Given the description of an element on the screen output the (x, y) to click on. 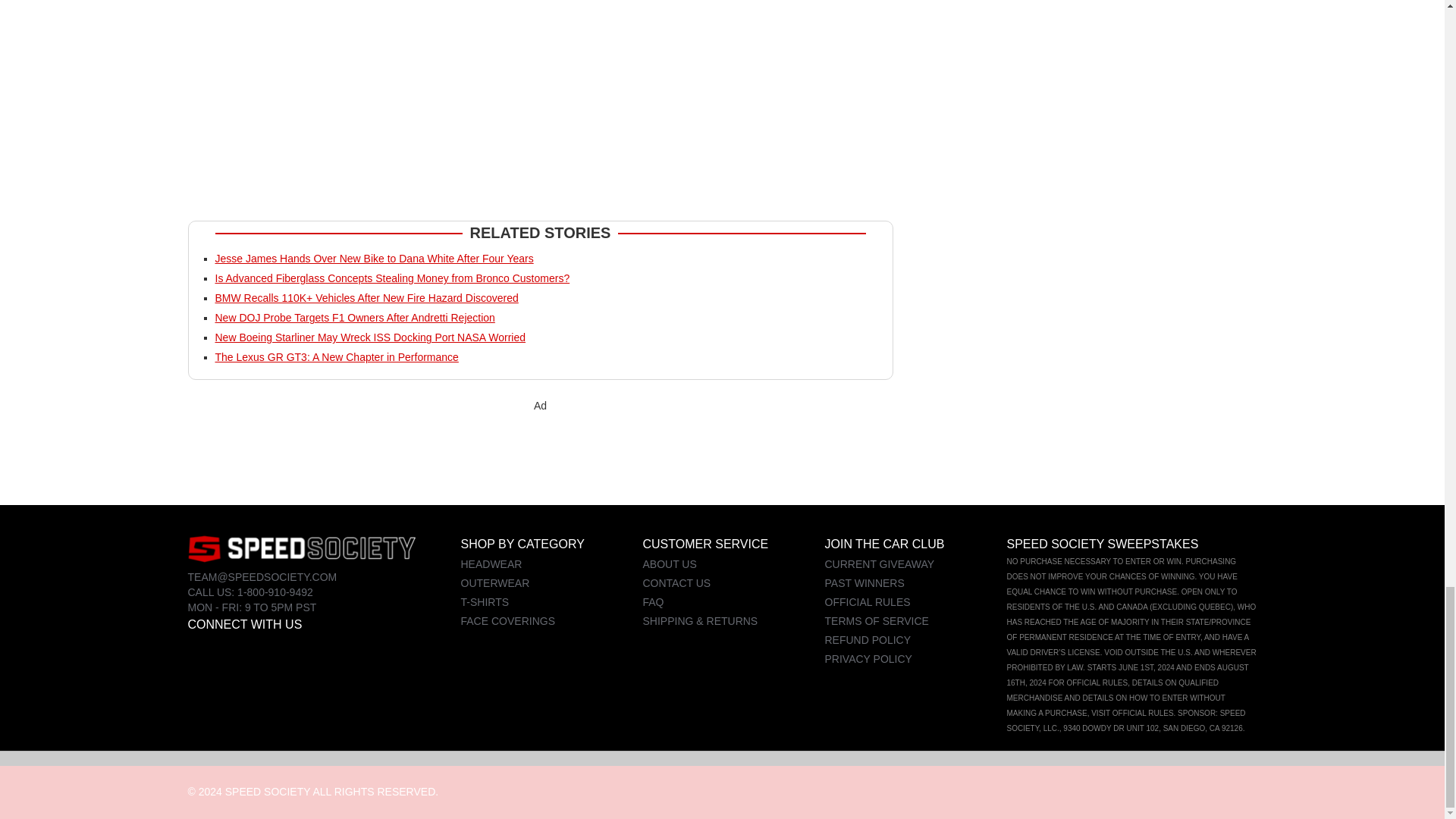
footer logo (300, 548)
